Given the description of an element on the screen output the (x, y) to click on. 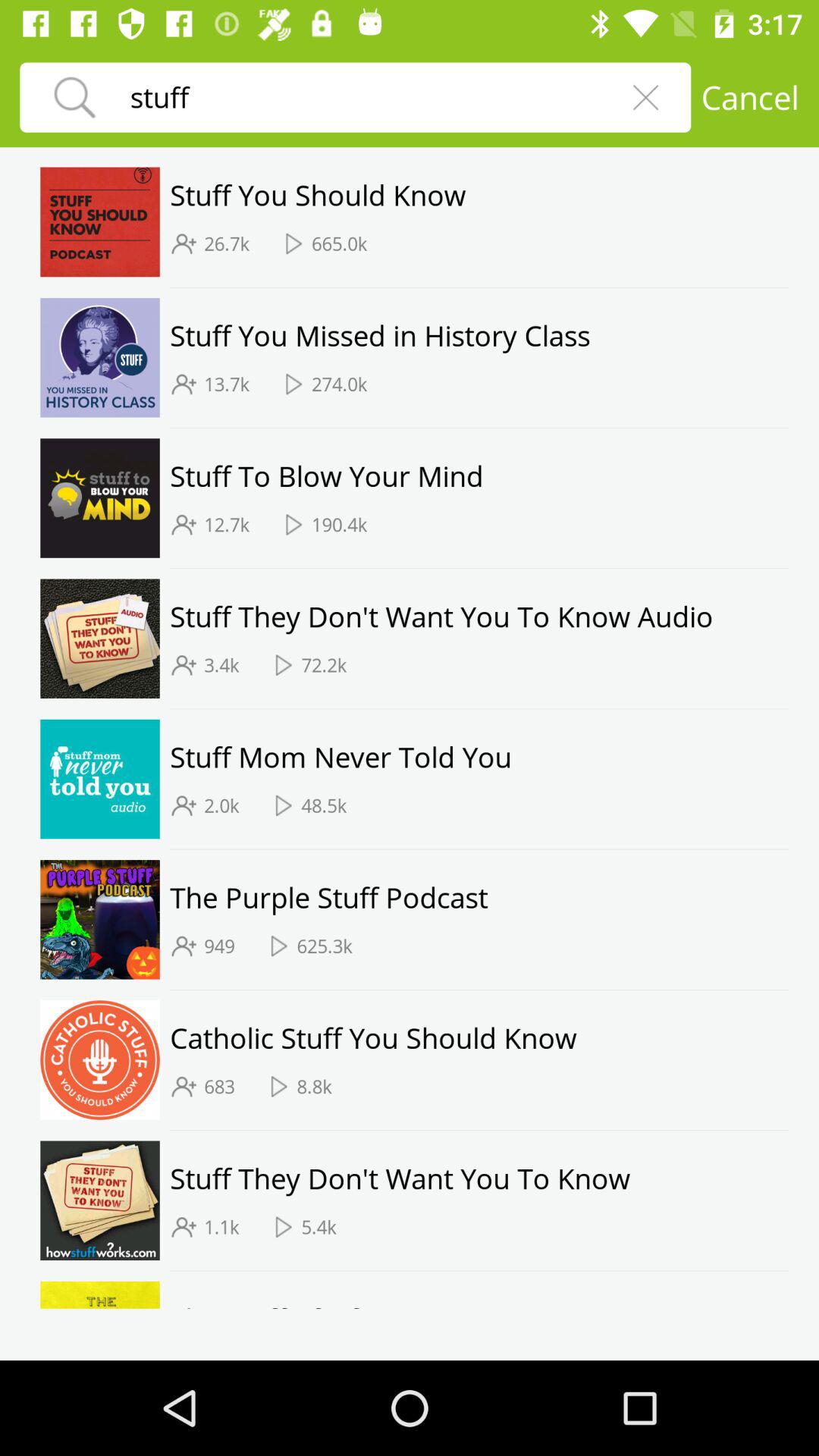
jump until the 625.3k (324, 945)
